Given the description of an element on the screen output the (x, y) to click on. 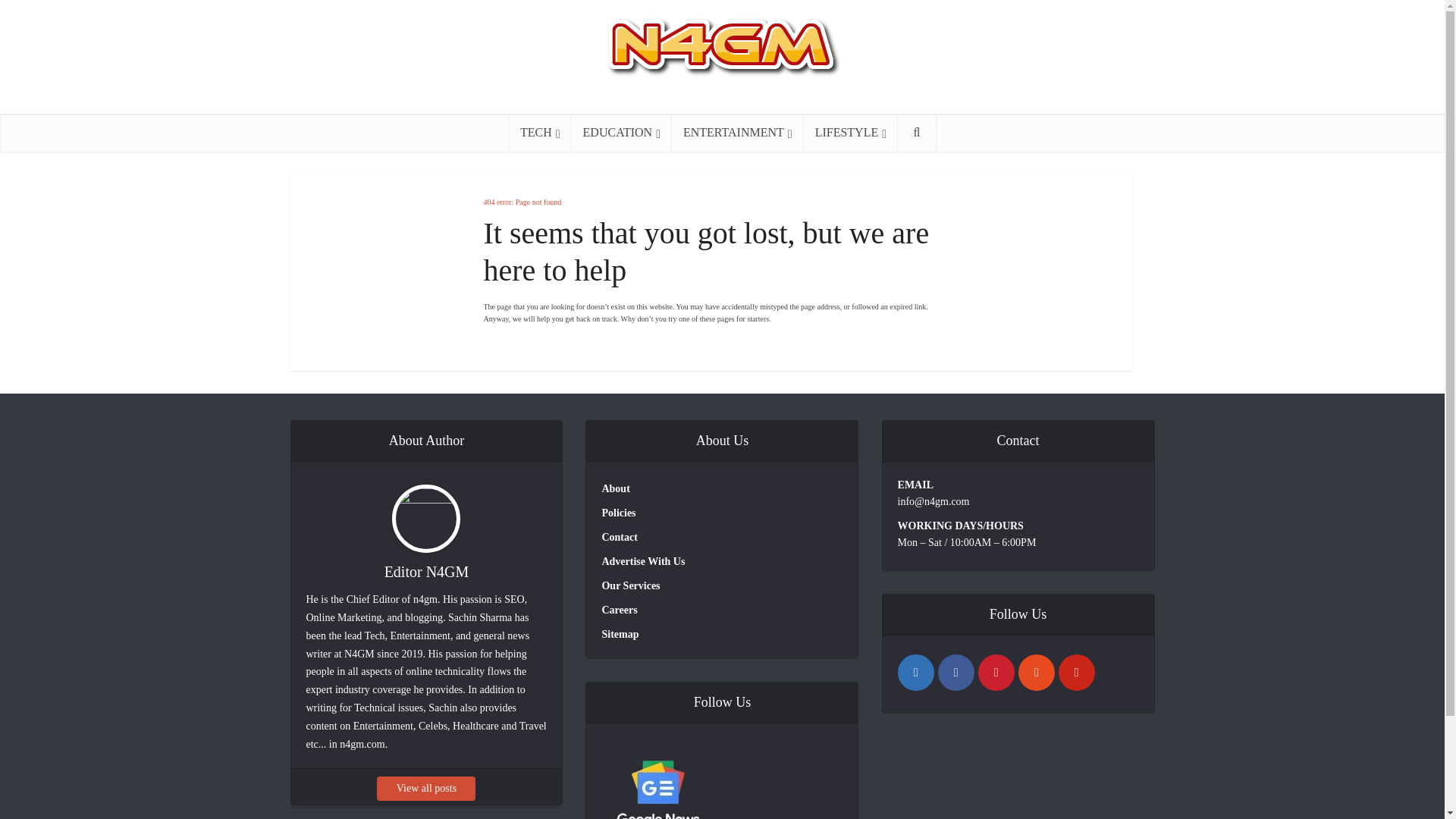
LIFESTYLE (850, 132)
EDUCATION (621, 132)
reddit (1035, 672)
TECH (540, 132)
ENTERTAINMENT (737, 132)
Pinterest (1076, 672)
Quora (996, 672)
Facebook (955, 672)
Follow Us (657, 778)
Linkedin (916, 672)
